Given the description of an element on the screen output the (x, y) to click on. 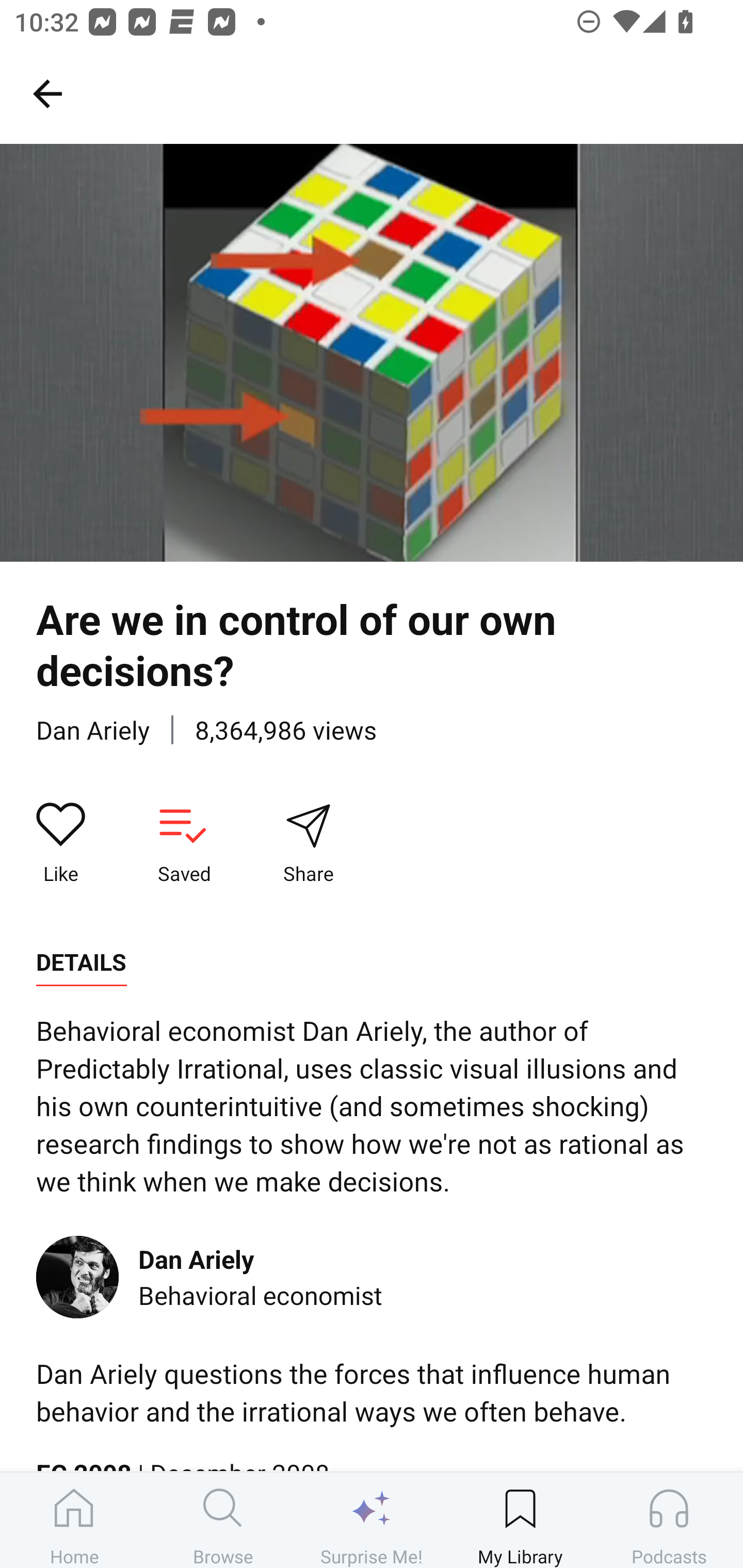
My Library, back (47, 92)
Like (60, 843)
Saved (183, 843)
Share (308, 843)
DETAILS (80, 962)
Home (74, 1520)
Browse (222, 1520)
Surprise Me! (371, 1520)
My Library (519, 1520)
Podcasts (668, 1520)
